Given the description of an element on the screen output the (x, y) to click on. 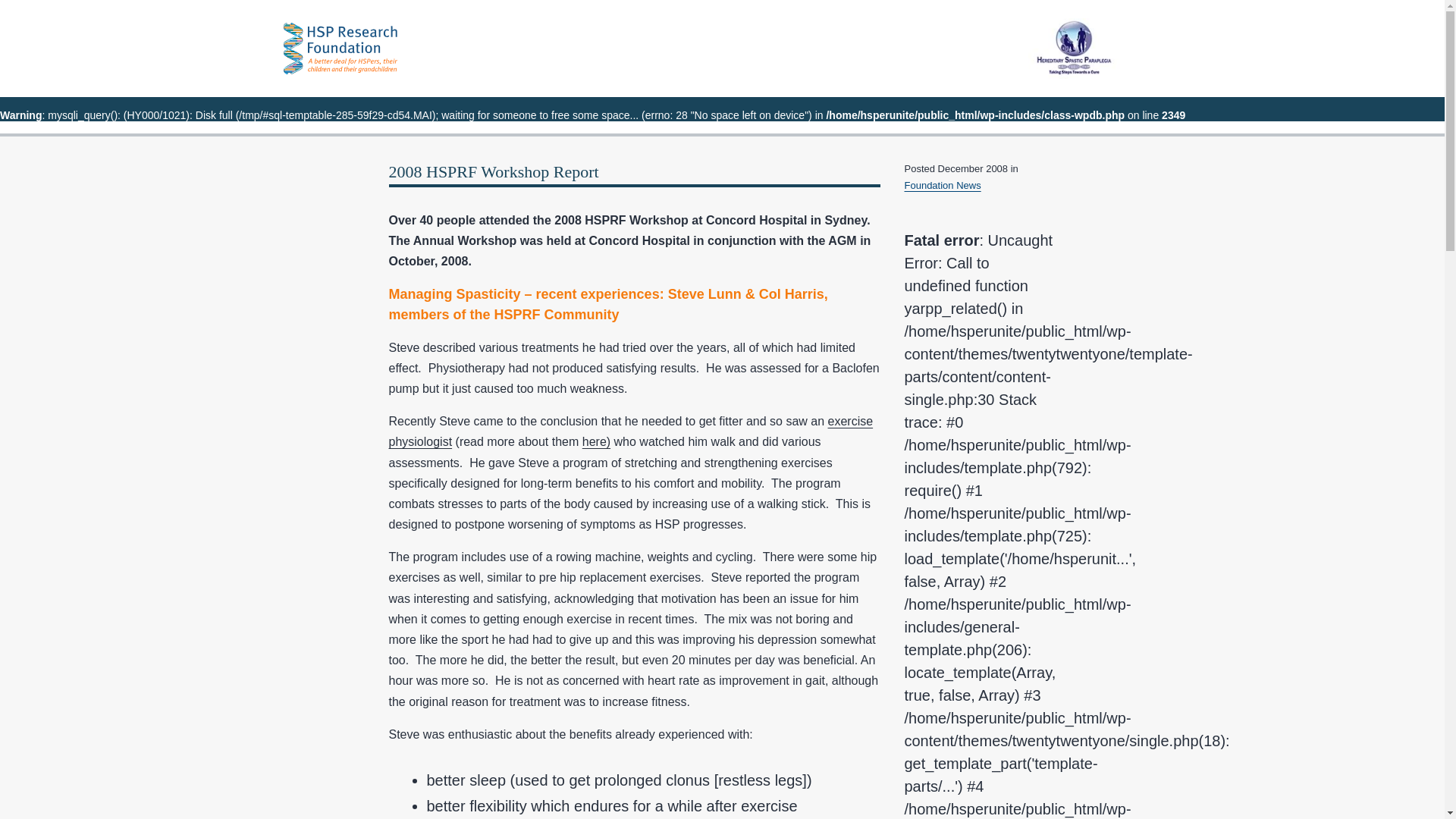
exercise physiologist Element type: text (630, 431)
Foundation News Element type: text (941, 185)
here) Element type: text (596, 441)
